Given the description of an element on the screen output the (x, y) to click on. 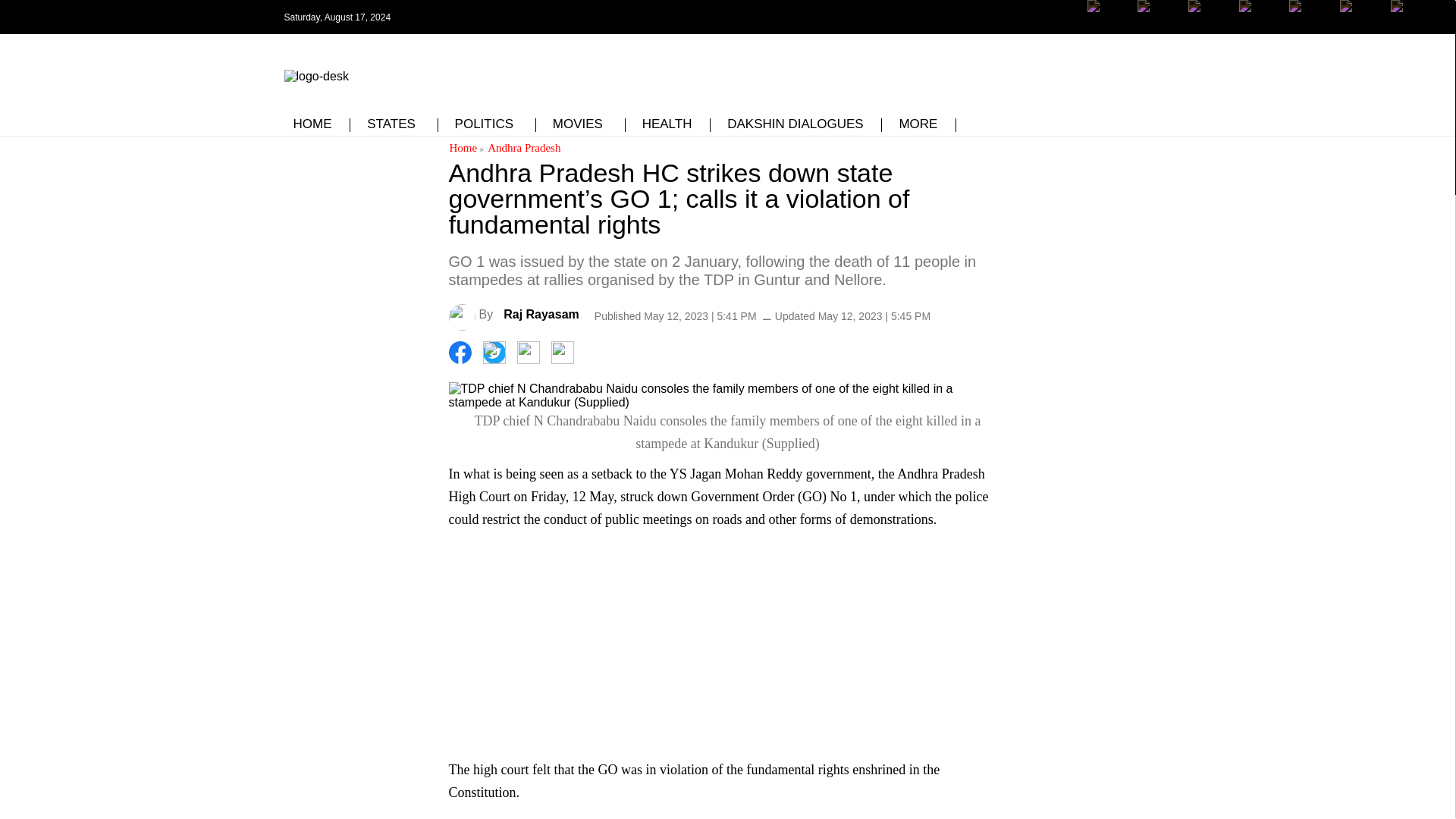
SouthFirst youtube (1309, 27)
SouthFirst youtube (1309, 16)
SouthFirst instagram (1209, 16)
logo (315, 72)
SouthFirst facebook (1108, 27)
SouthFirst twitter (1158, 16)
SouthFirst instagram (1209, 27)
SouthFirst facebook (1108, 16)
SouthFirst twitter (1158, 27)
SouthFirst youtube (1260, 27)
